Given the description of an element on the screen output the (x, y) to click on. 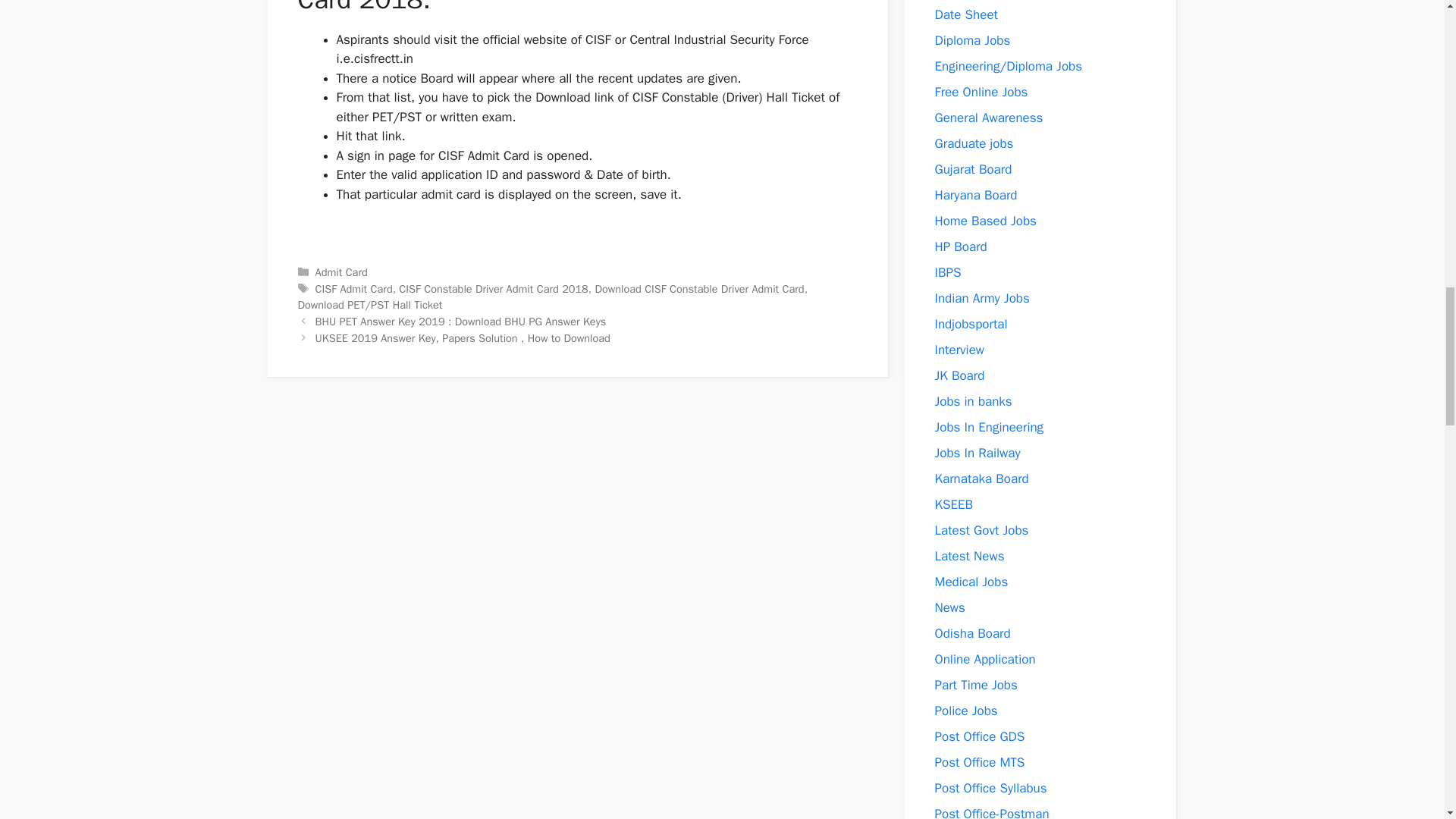
Download CISF Constable Driver Admit Card (698, 288)
CISF Admit Card (354, 288)
CISF Constable Driver Admit Card 2018 (493, 288)
UKSEE 2019 Answer Key, Papers Solution , How to Download (462, 337)
Admit Card (341, 272)
BHU PET Answer Key 2019 : Download BHU PG Answer Keys (461, 321)
